Given the description of an element on the screen output the (x, y) to click on. 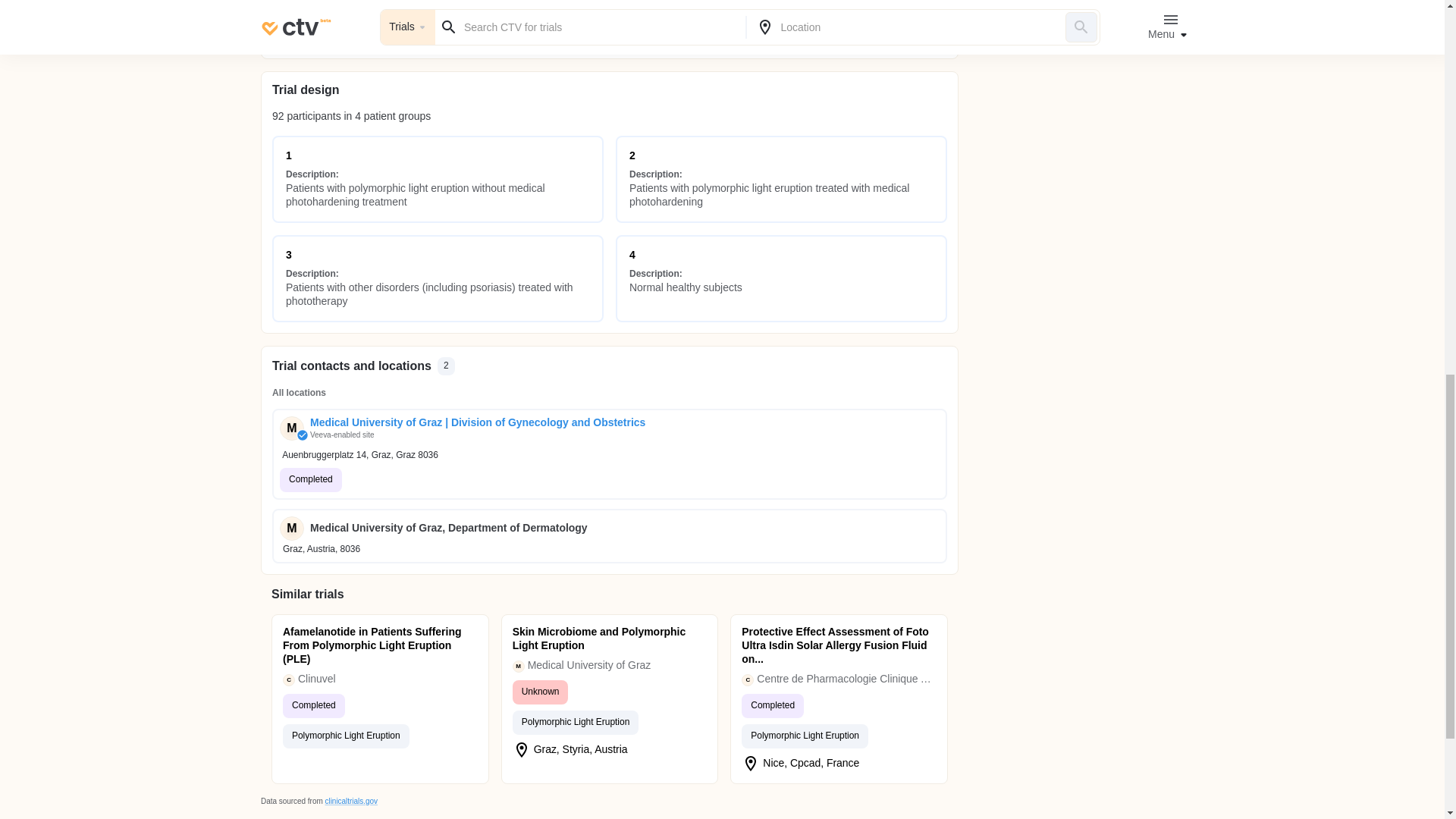
clinicaltrials.gov (350, 800)
